Given the description of an element on the screen output the (x, y) to click on. 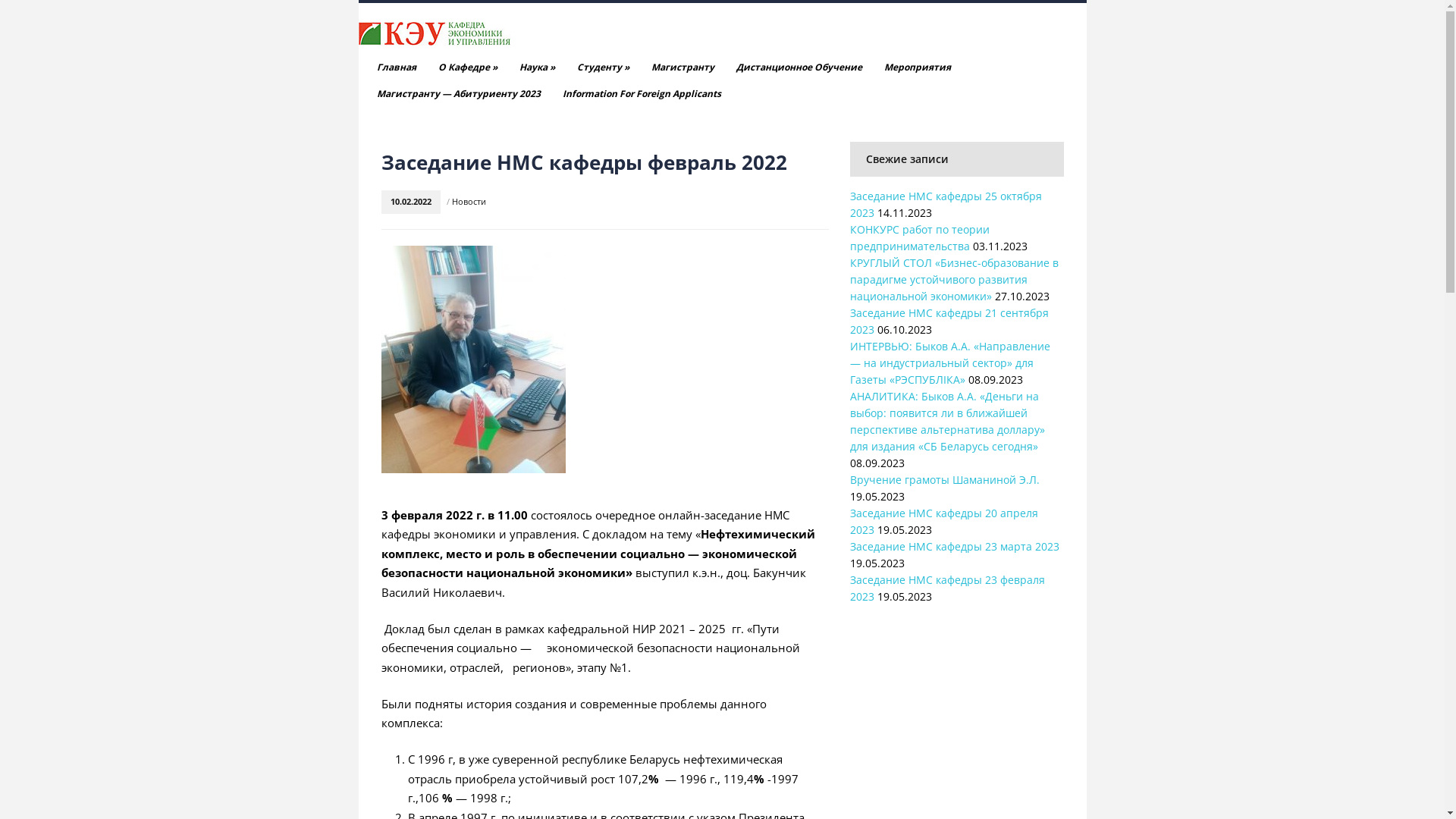
Information For Foreign Applicants Element type: text (642, 93)
